Given the description of an element on the screen output the (x, y) to click on. 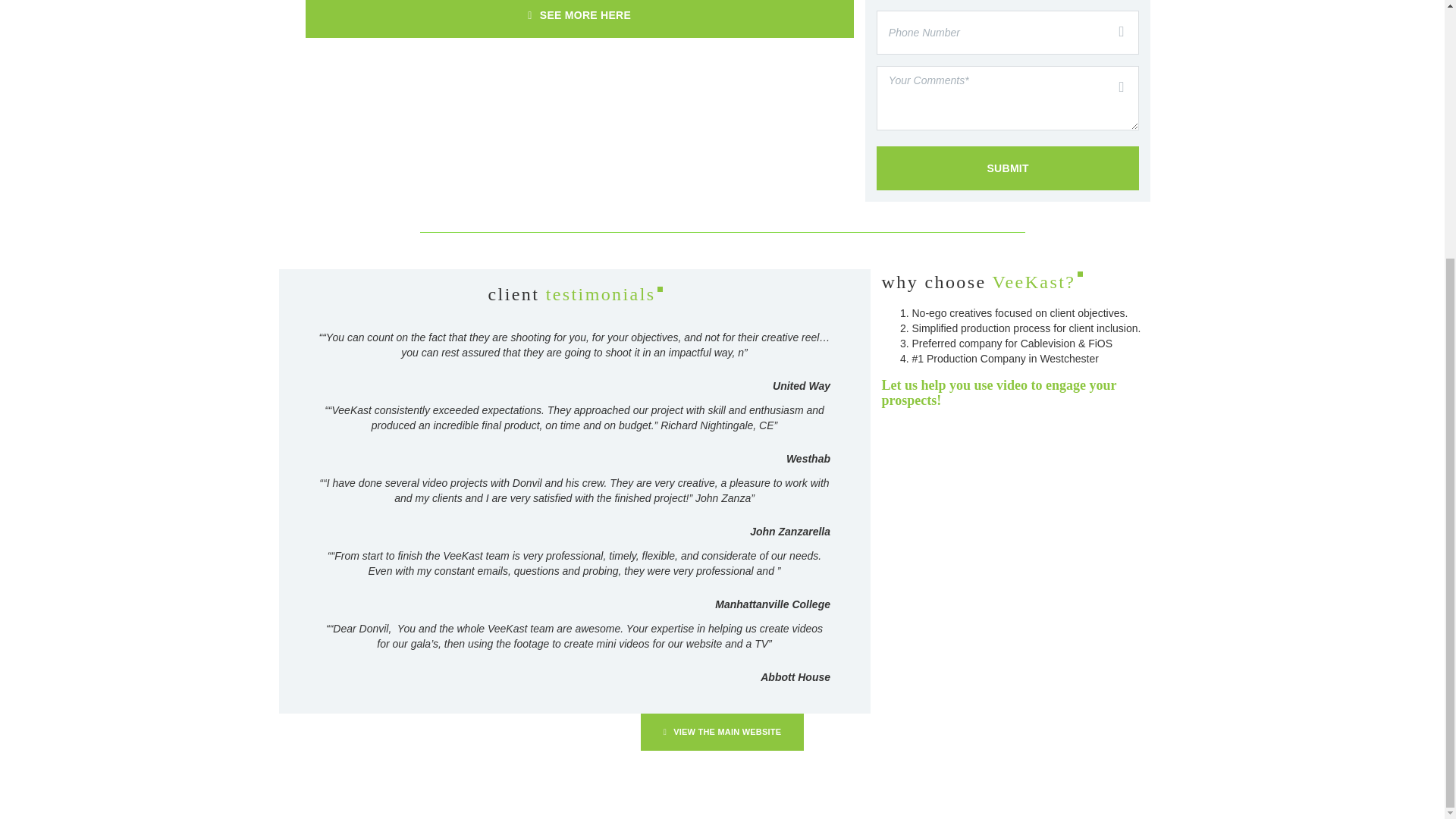
SUBMIT (1008, 168)
SUBMIT (1008, 168)
VIEW THE MAIN WEBSITE (722, 732)
SEE MORE HERE (578, 18)
